Given the description of an element on the screen output the (x, y) to click on. 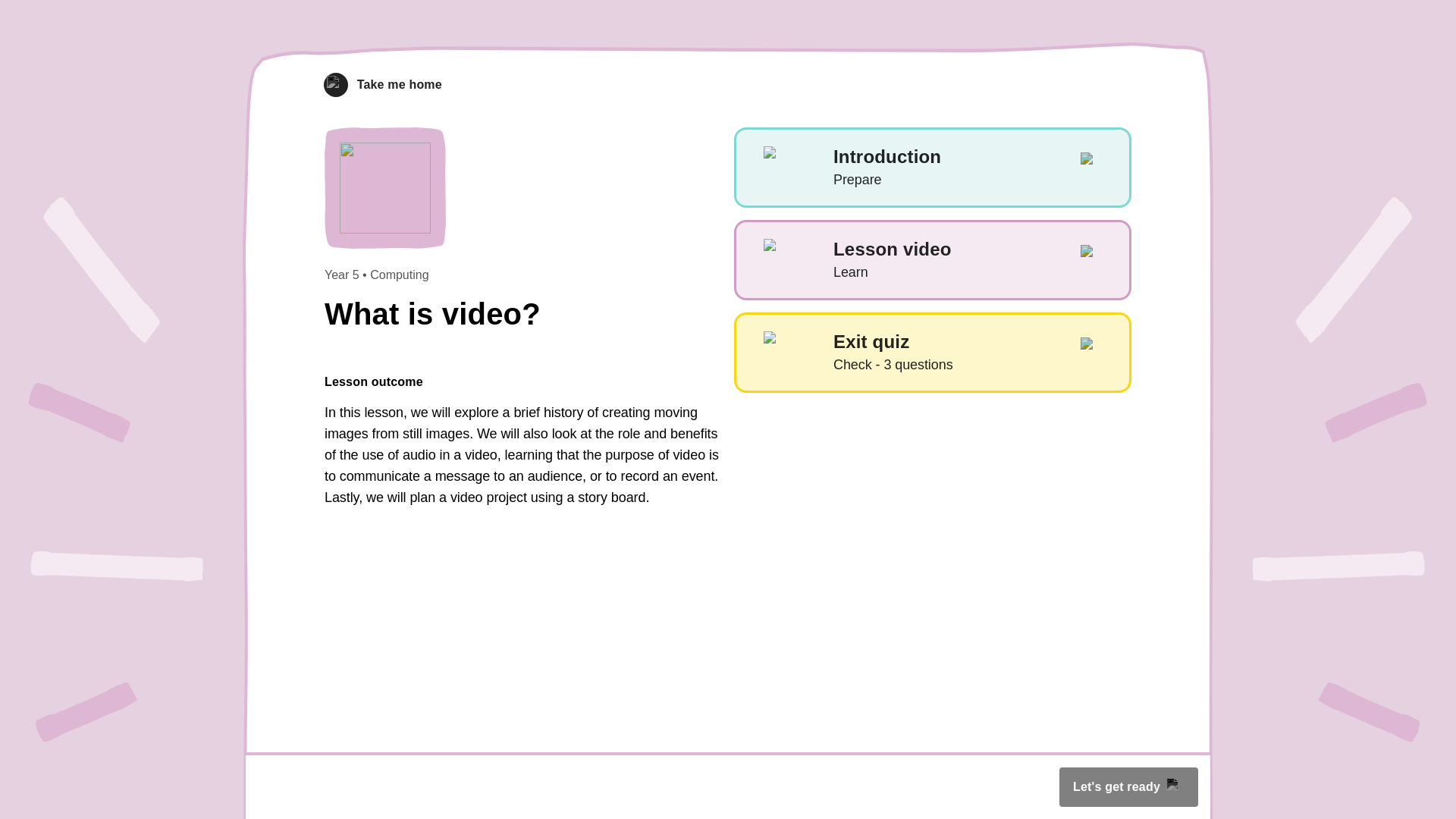
Take me home (932, 352)
Let's get ready (382, 84)
